Given the description of an element on the screen output the (x, y) to click on. 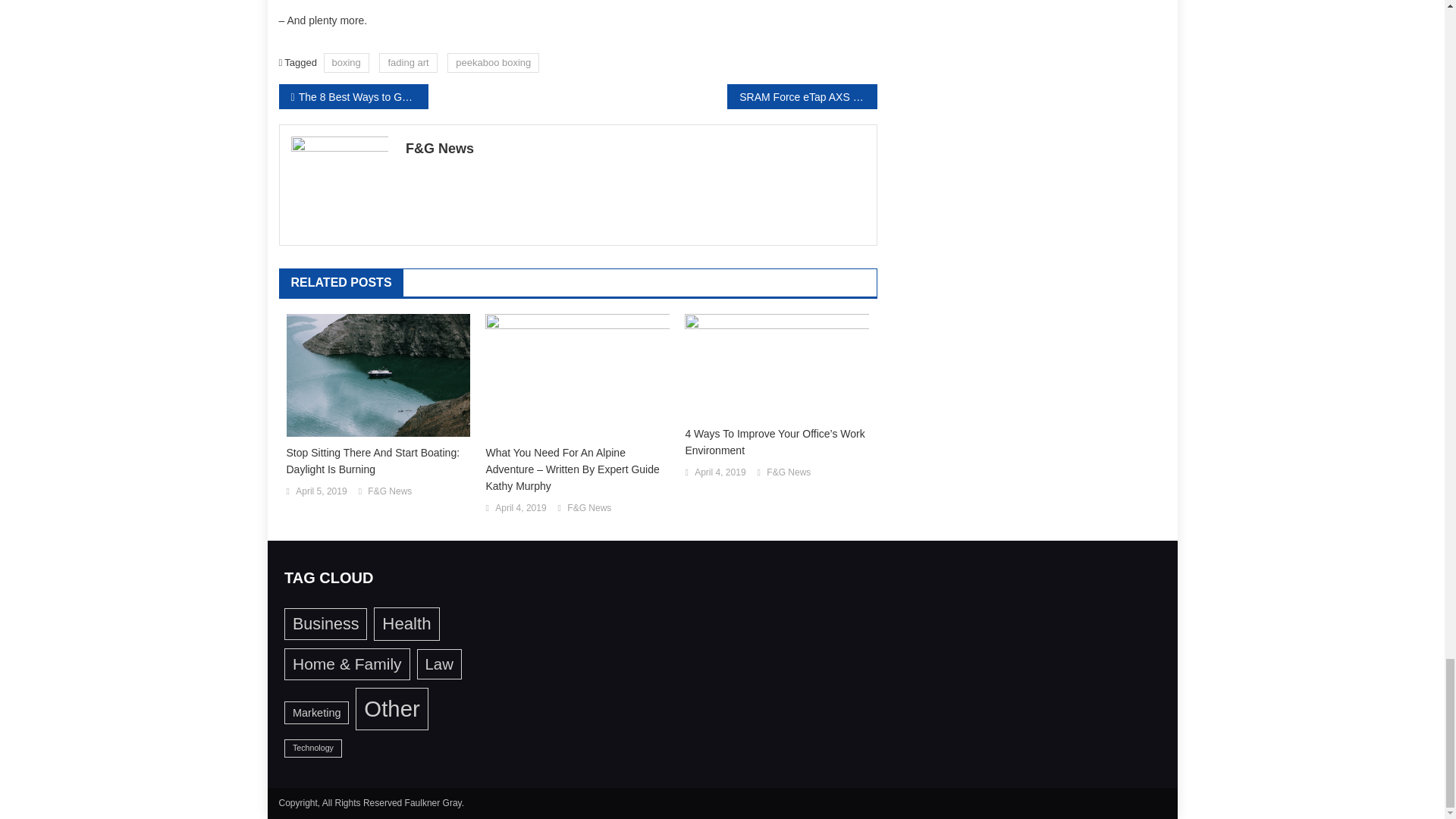
The 8 Best Ways to Get 6-Pack Abs Fast (353, 96)
April 4, 2019 (719, 473)
boxing (346, 62)
Stop Sitting There And Start Boating: Daylight Is Burning (378, 460)
April 5, 2019 (320, 492)
fading art (407, 62)
April 4, 2019 (520, 508)
peekaboo boxing (492, 62)
